Given the description of an element on the screen output the (x, y) to click on. 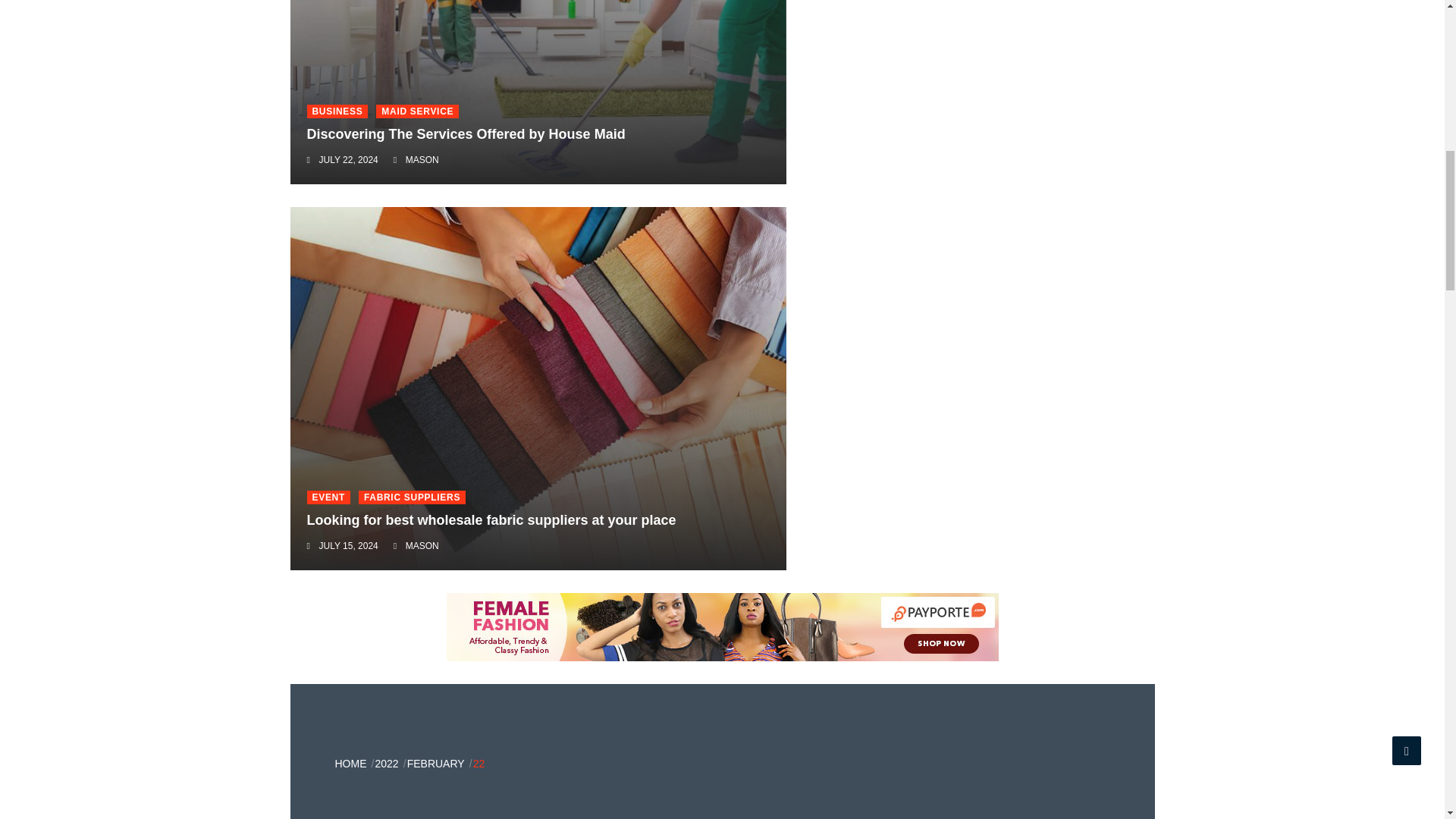
FEBRUARY (435, 763)
MASON (422, 159)
2022 (385, 763)
Discovering The Services Offered by House Maid (464, 133)
JULY 15, 2024 (347, 545)
MASON (422, 545)
BUSINESS (336, 110)
FABRIC SUPPLIERS (411, 497)
HOME (350, 763)
Looking for best wholesale fabric suppliers at your place (490, 519)
JULY 22, 2024 (347, 159)
MAID SERVICE (416, 110)
EVENT (327, 497)
